Given the description of an element on the screen output the (x, y) to click on. 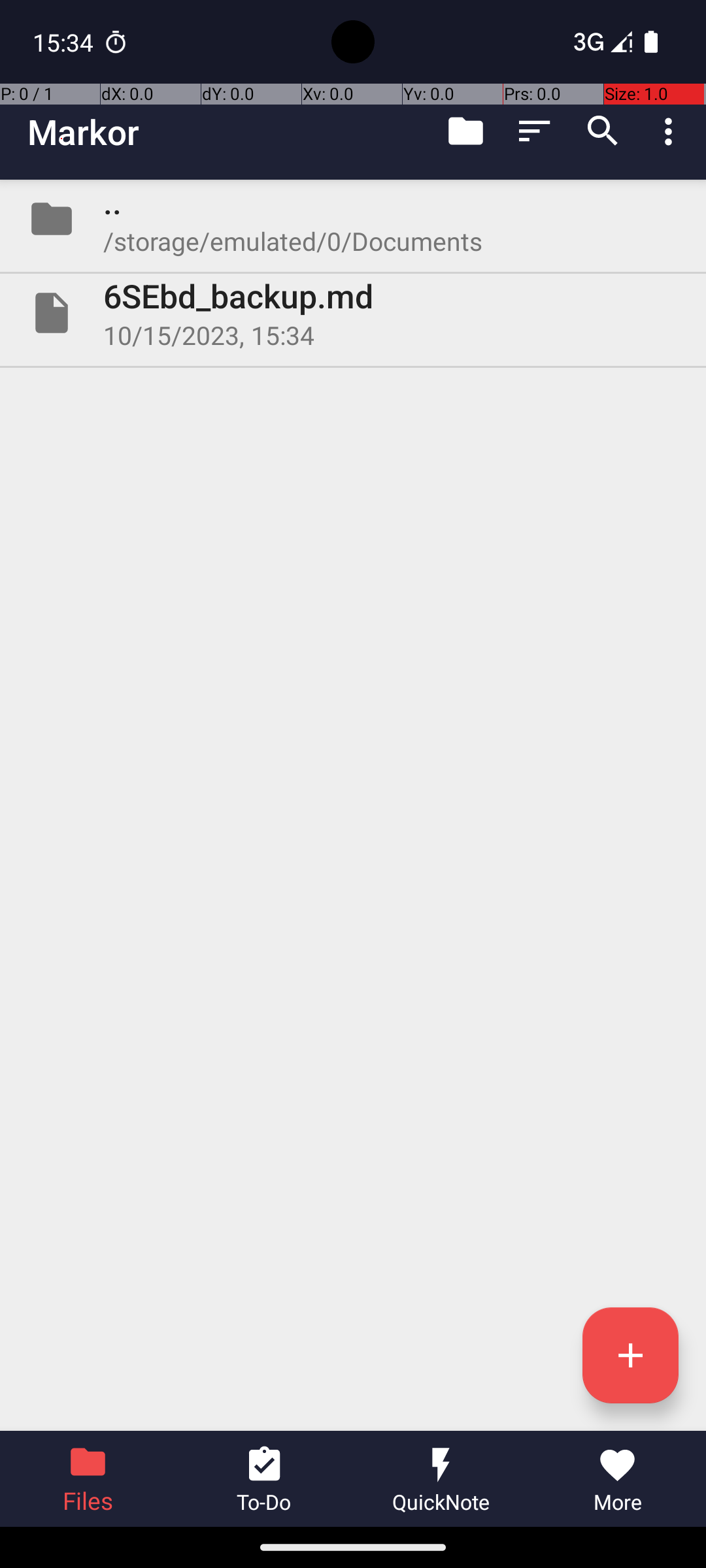
File 6SEbd_backup.md  Element type: android.widget.LinearLayout (353, 312)
